Given the description of an element on the screen output the (x, y) to click on. 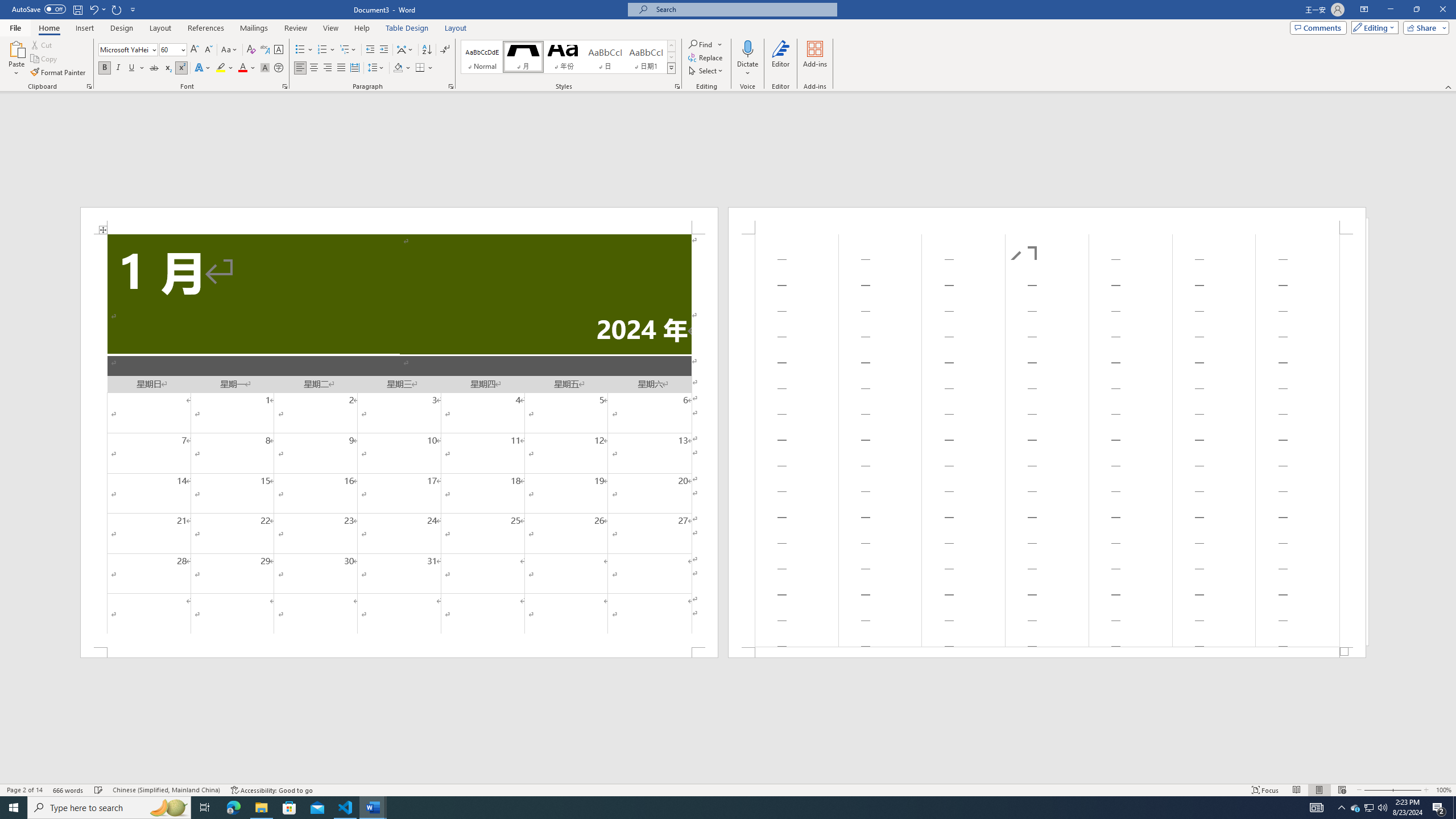
View (330, 28)
Font (128, 49)
File Tab (15, 27)
Print Layout (1318, 790)
Class: NetUIScrollBar (728, 778)
Ribbon Display Options (1364, 9)
Share (1423, 27)
Paragraph... (450, 85)
Text Highlight Color Yellow (220, 67)
Page 1 content (398, 440)
Character Shading (264, 67)
Dictate (747, 48)
Numbering (322, 49)
